Given the description of an element on the screen output the (x, y) to click on. 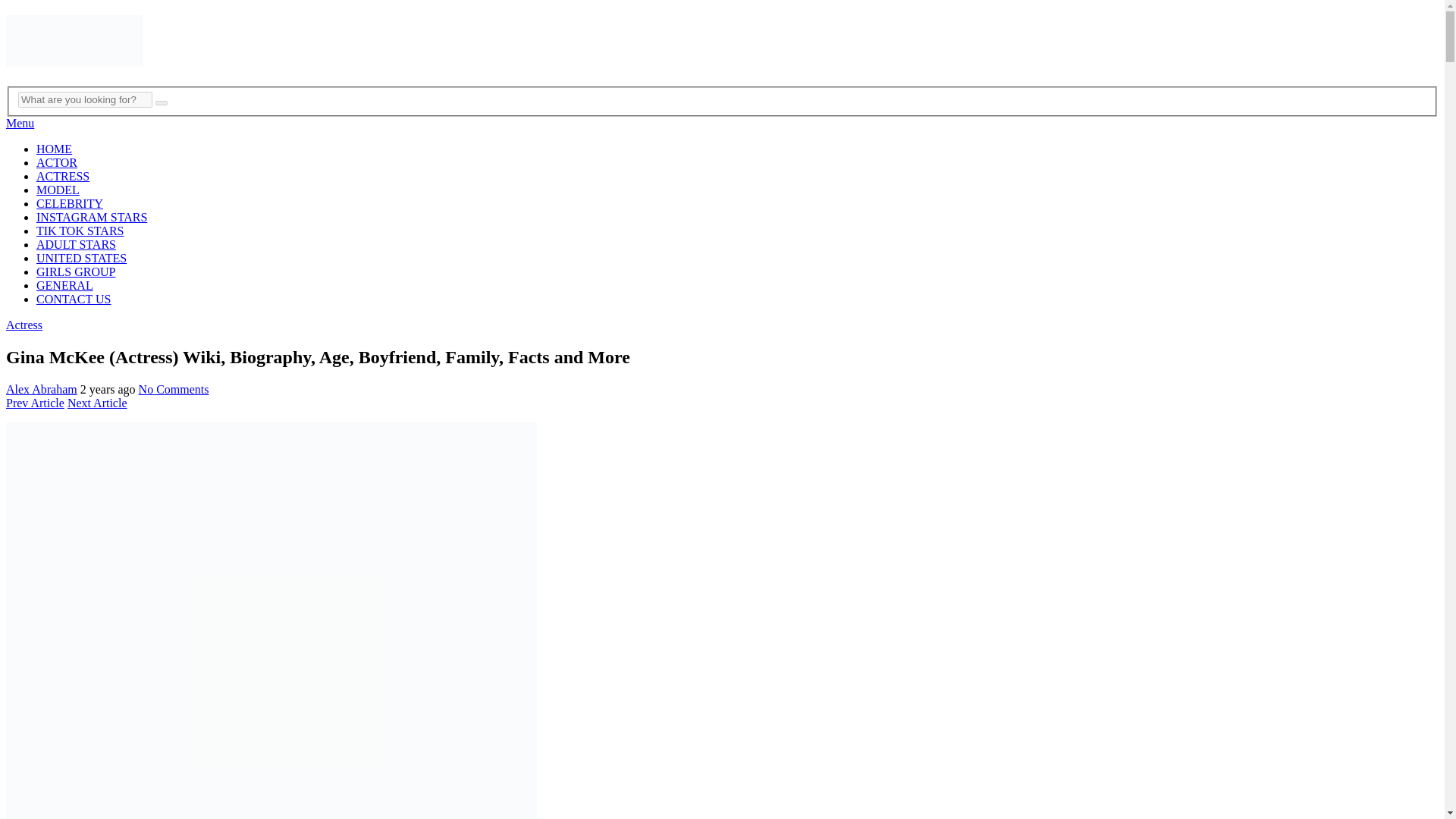
Alex Abraham (41, 389)
GENERAL (64, 285)
No Comments (173, 389)
Menu (19, 123)
INSTAGRAM STARS (91, 216)
Posts by Alex Abraham (41, 389)
Next Article (97, 402)
UNITED STATES (81, 257)
View all posts in Actress (23, 324)
MODEL (58, 189)
